Given the description of an element on the screen output the (x, y) to click on. 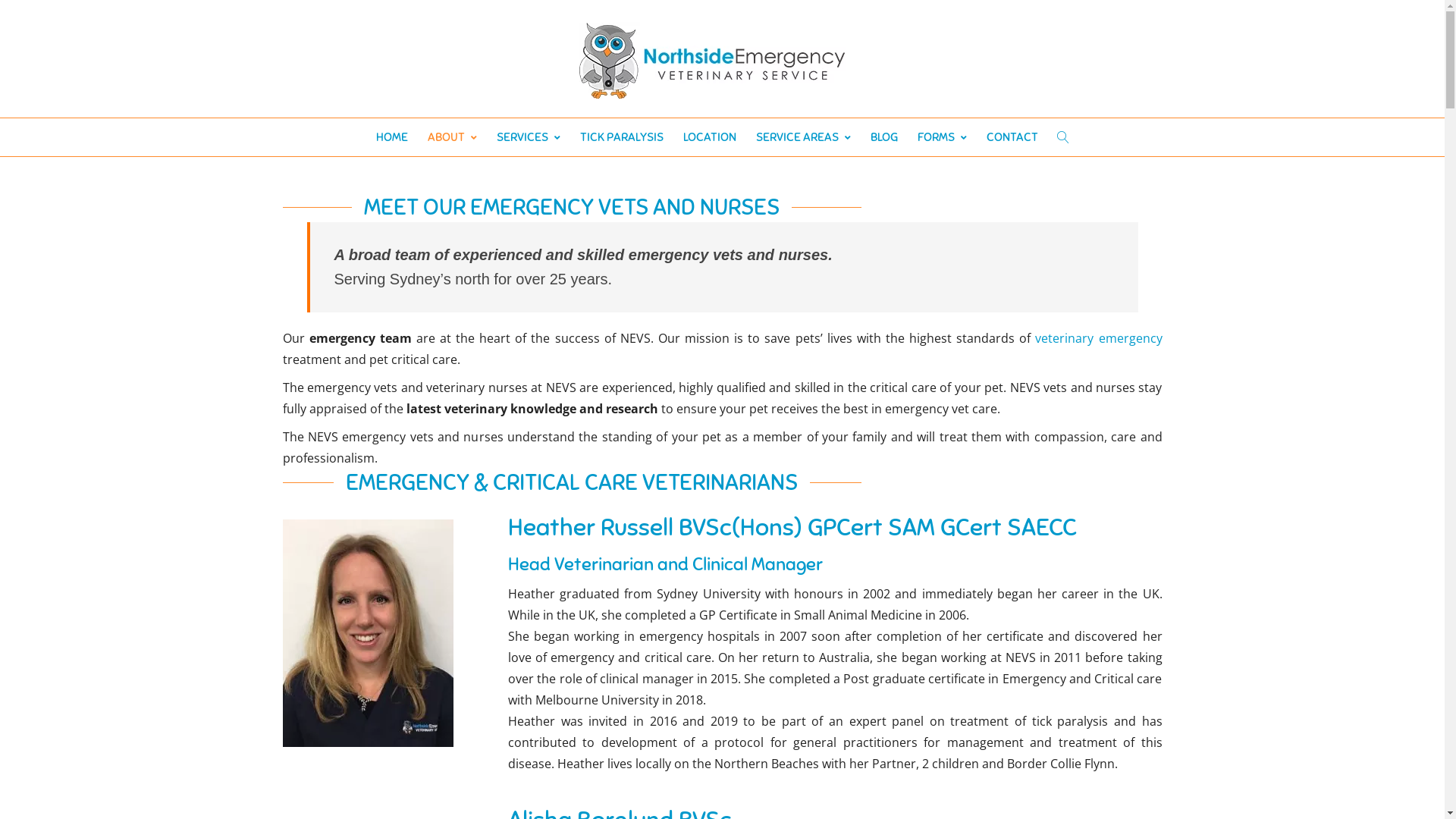
veterinary emergency Element type: text (1098, 337)
BLOG Element type: text (883, 137)
CONTACT Element type: text (1012, 137)
LOCATION Element type: text (709, 137)
SERVICE AREAS Element type: text (803, 137)
FORMS Element type: text (941, 137)
SERVICES Element type: text (528, 137)
ABOUT Element type: text (451, 137)
HOME Element type: text (391, 137)
TICK PARALYSIS Element type: text (621, 137)
